Given the description of an element on the screen output the (x, y) to click on. 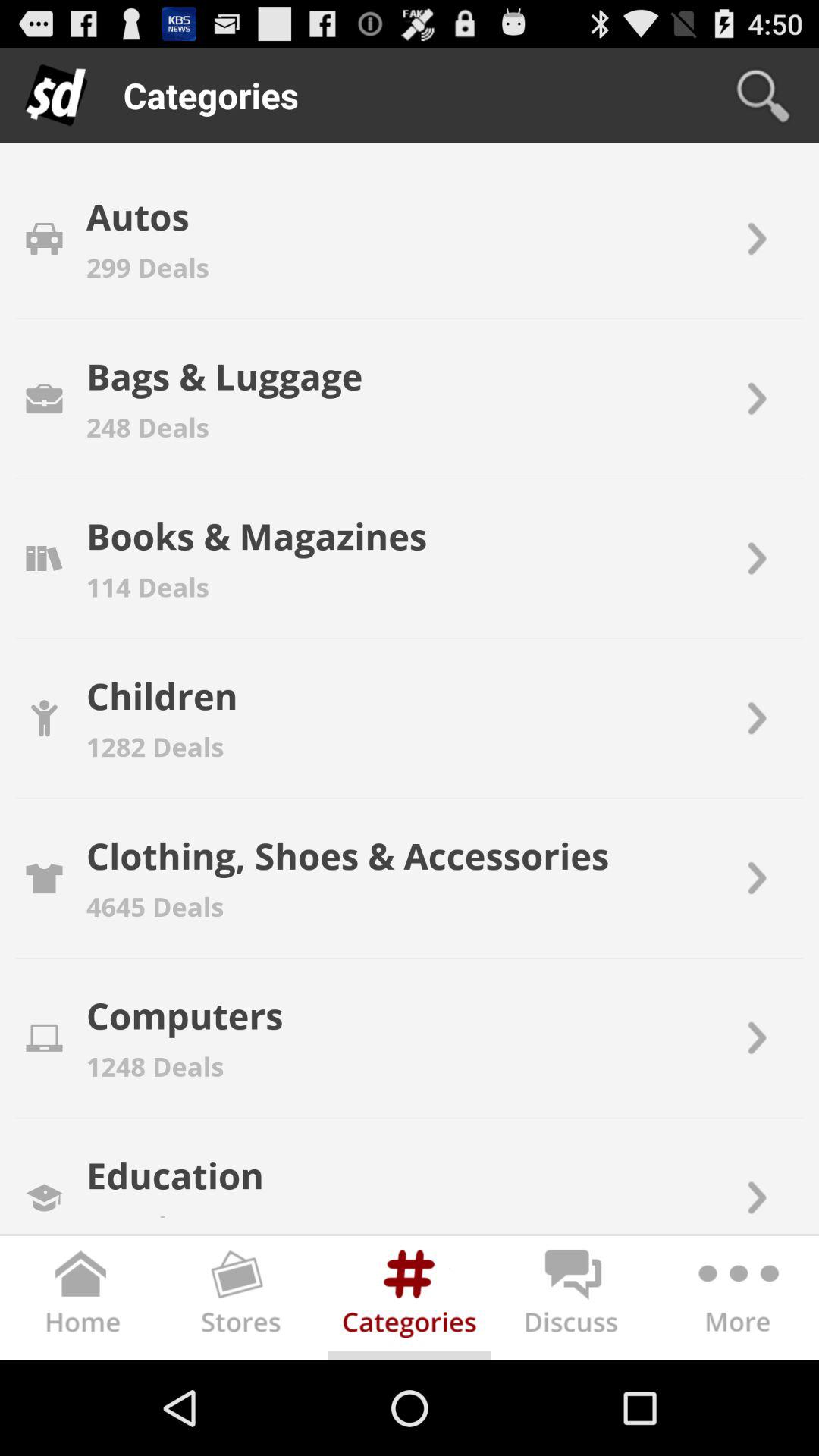
turn on item above computers app (155, 906)
